Given the description of an element on the screen output the (x, y) to click on. 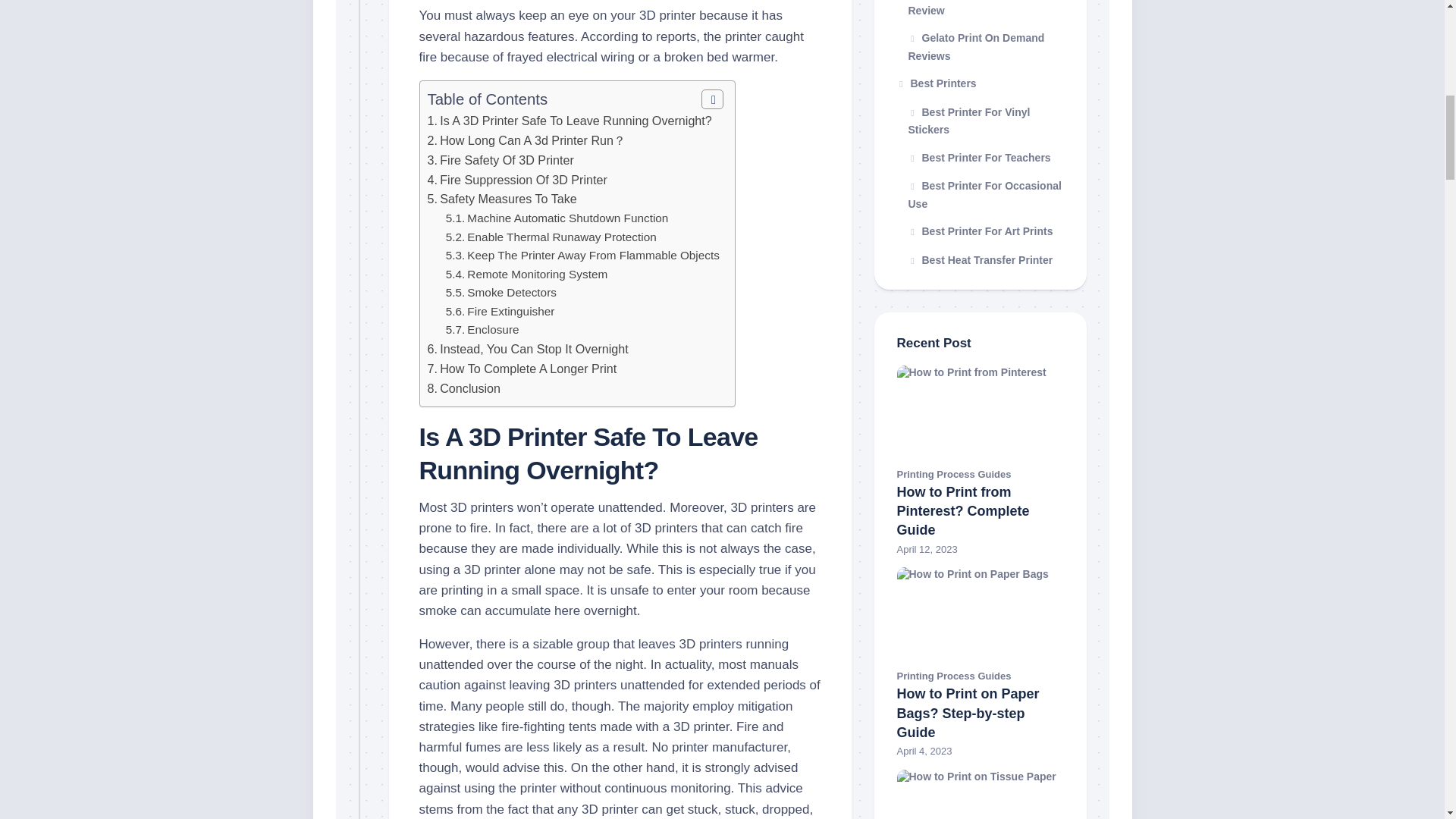
Conclusion (469, 387)
Keep The Printer Away From Flammable Objects (593, 254)
Is A 3D Printer Safe To Leave Running Overnight? (575, 120)
Enclosure (492, 328)
Enable Thermal Runaway Protection (561, 236)
Machine Automatic Shutdown Function (567, 217)
Smoke Detectors (511, 291)
Instead, You Can Stop It Overnight (533, 348)
